Given the description of an element on the screen output the (x, y) to click on. 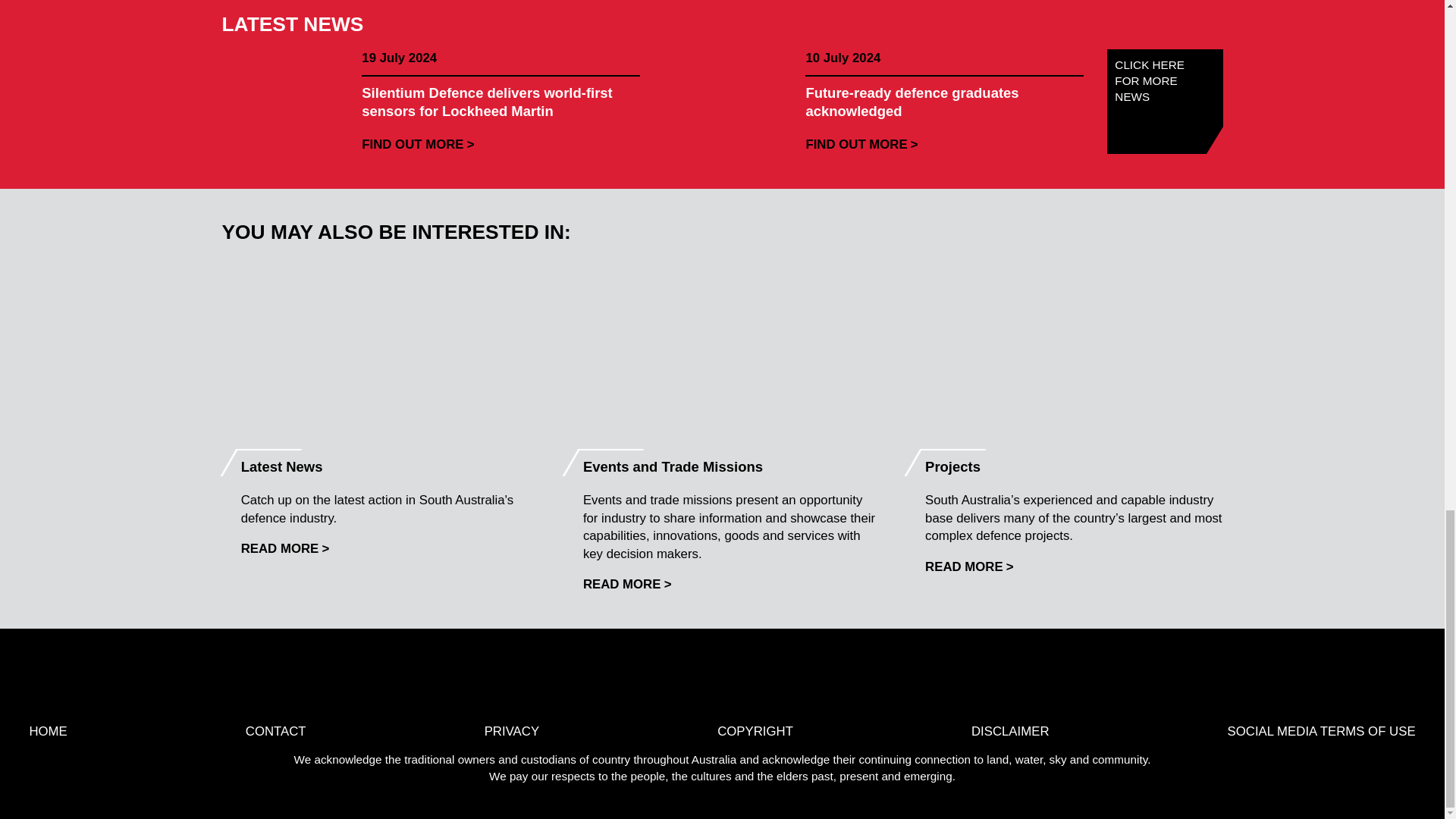
South Australia White Logo (550, 680)
View: Latest News (285, 548)
View: Events and Trade Missions (627, 584)
sa.gov.au Logo (892, 680)
View: Projects (968, 566)
Defence SA Footer Logo (778, 680)
Government of South Australia Logo (664, 680)
